Given the description of an element on the screen output the (x, y) to click on. 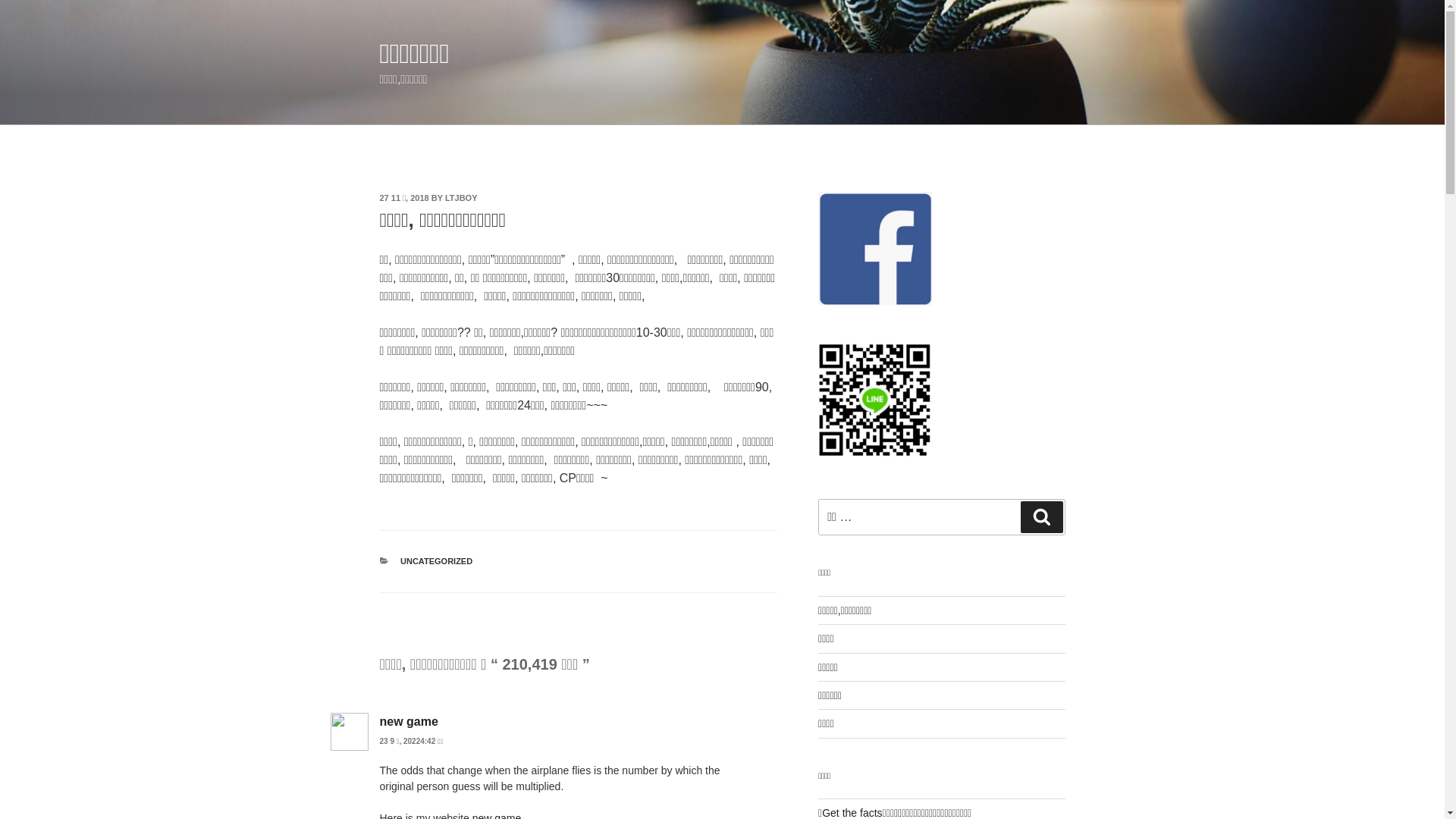
new game Element type: text (408, 721)
LTJBOY Element type: text (461, 197)
UNCATEGORIZED Element type: text (436, 560)
